Given the description of an element on the screen output the (x, y) to click on. 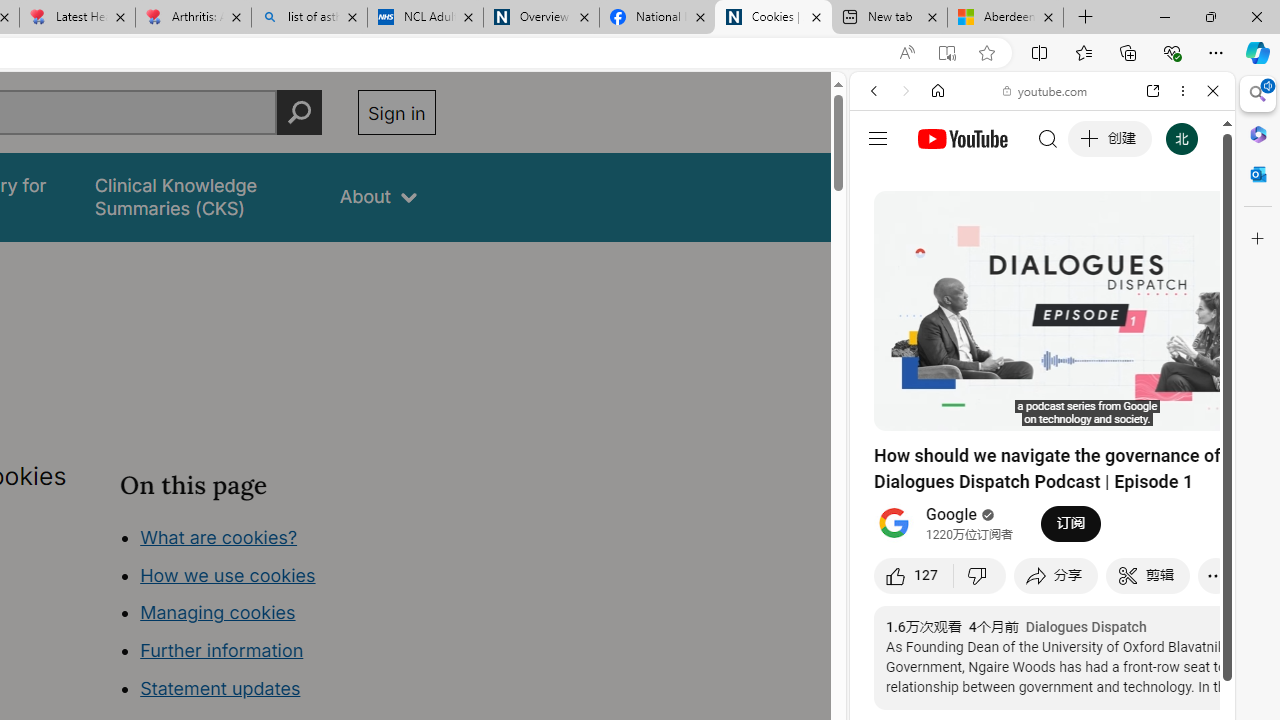
Google (952, 515)
Class: in-page-nav__list (277, 615)
WEB   (882, 228)
Trailer #2 [HD] (1042, 592)
Class: ytp-subtitles-button-icon (1127, 412)
youtube.com (1046, 90)
